Given the description of an element on the screen output the (x, y) to click on. 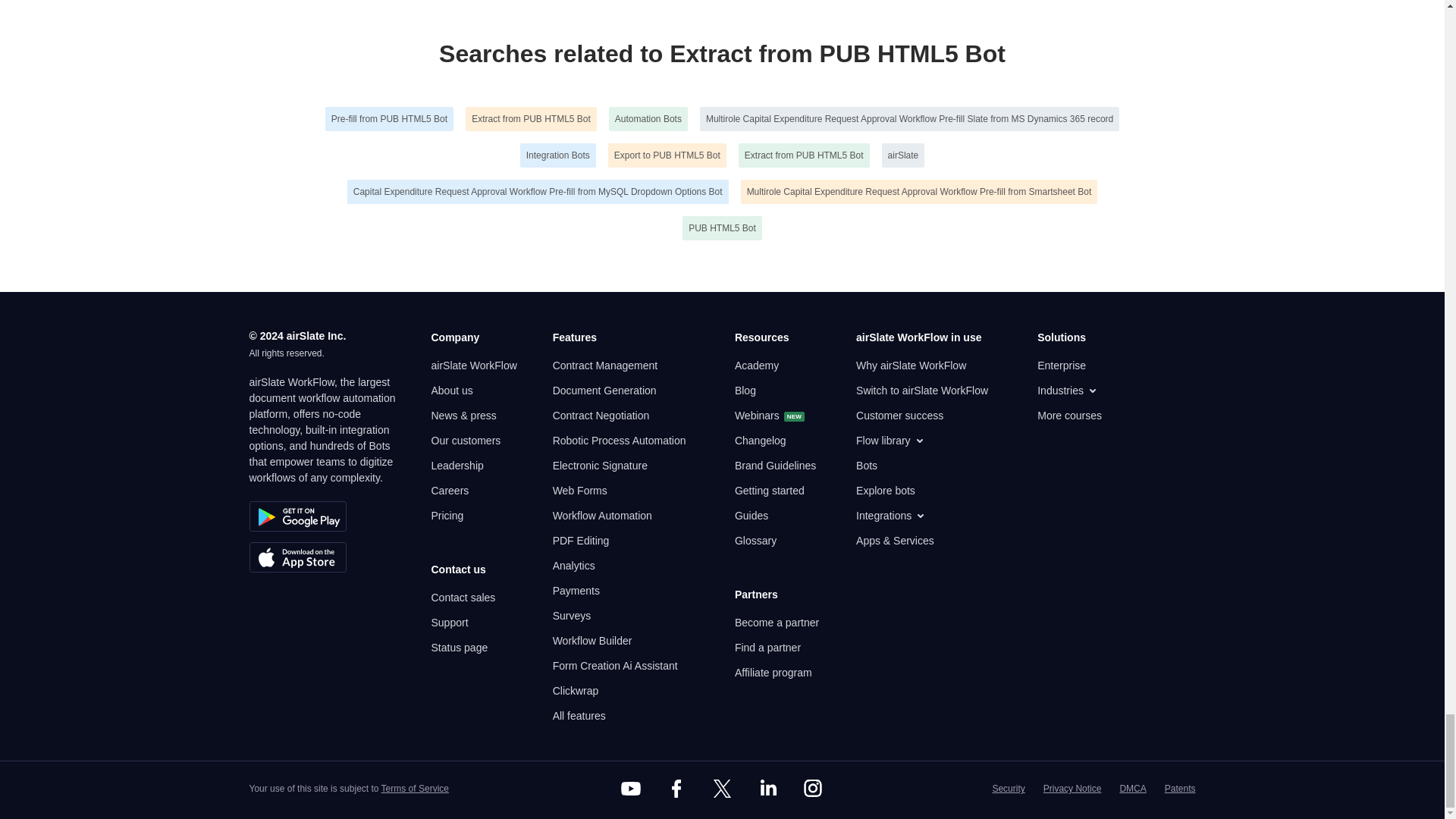
YouTube (630, 788)
Facebook (676, 788)
Twitter (721, 788)
Instagram (812, 788)
LinkedIn (767, 788)
